Given the description of an element on the screen output the (x, y) to click on. 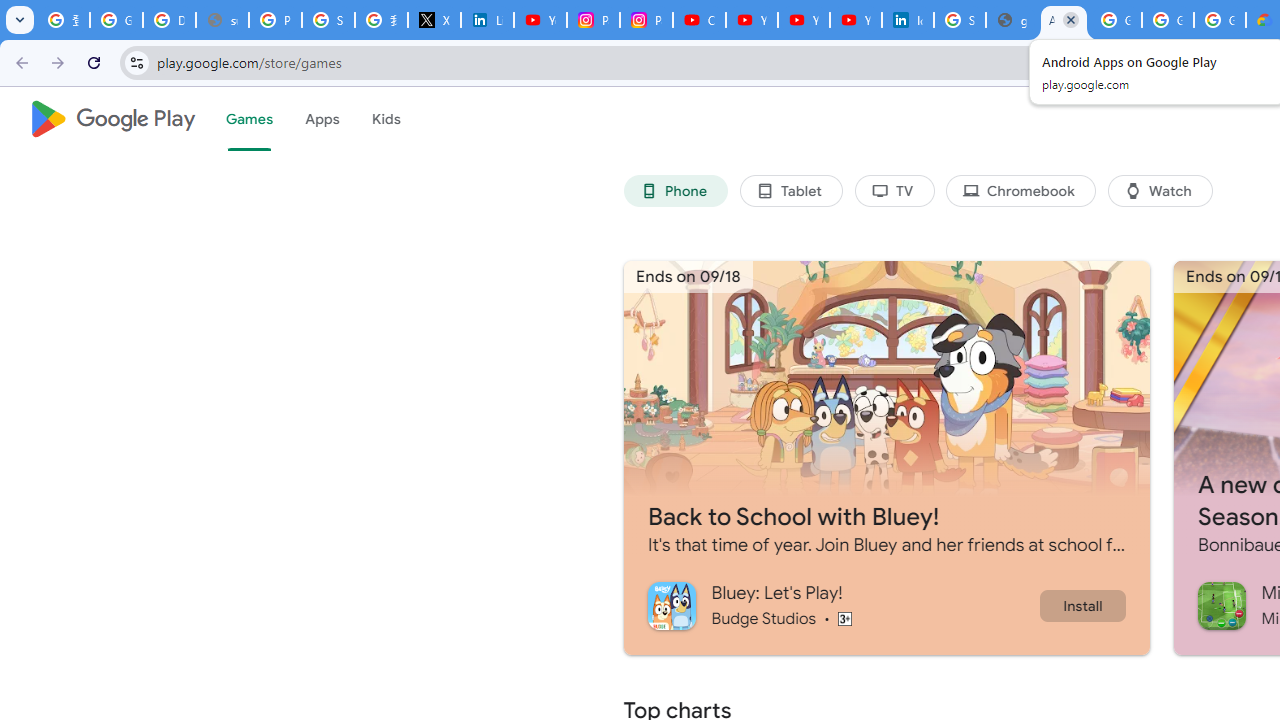
Android Apps on Google Play (1064, 20)
Apps (321, 119)
Kids (385, 119)
TV (893, 190)
Google Workspace - Specific Terms (1167, 20)
YouTube Content Monetization Policies - How YouTube Works (540, 20)
support.google.com - Network error (222, 20)
